Given the description of an element on the screen output the (x, y) to click on. 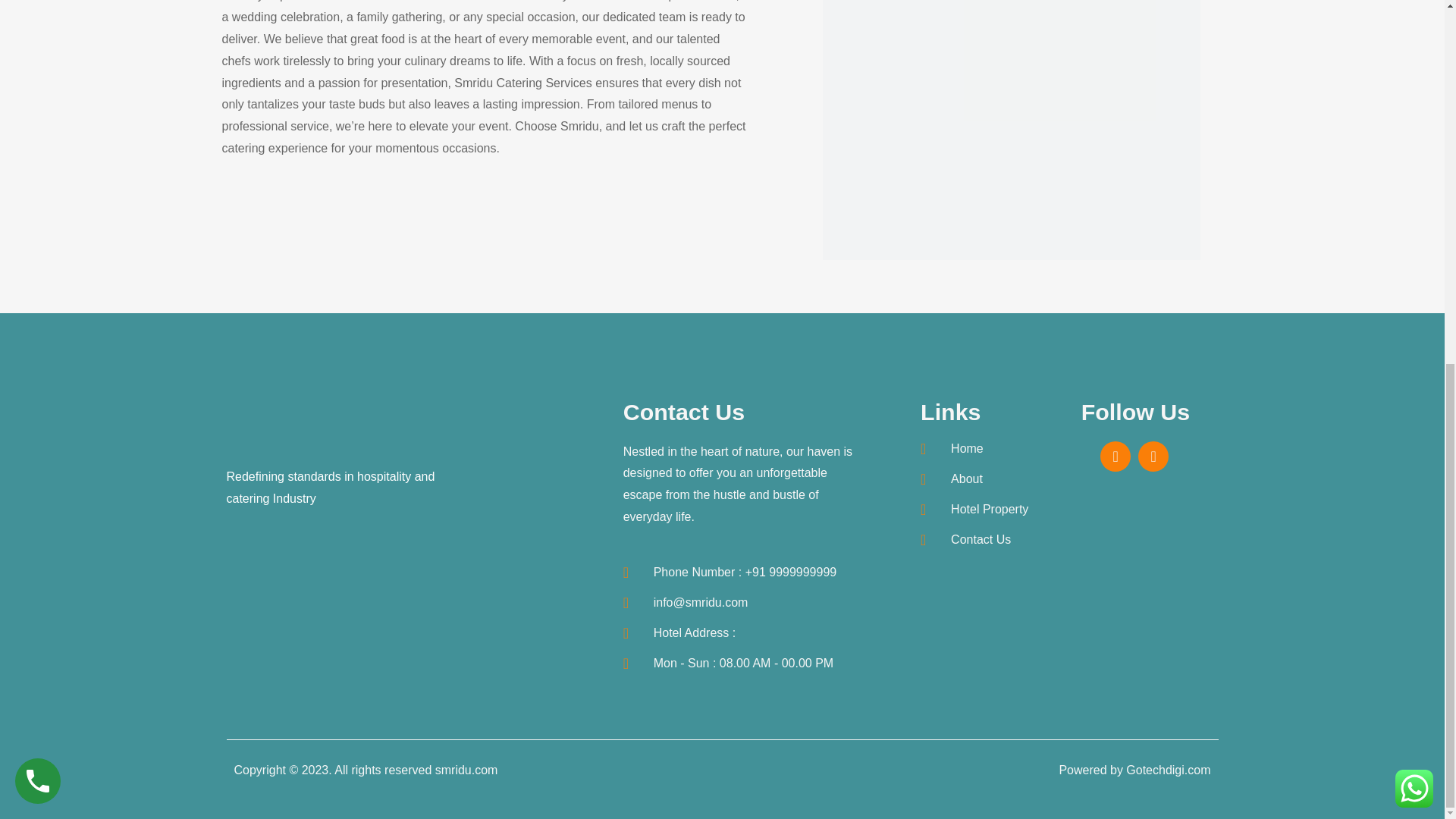
About (988, 478)
Home (988, 448)
Contact Us (988, 539)
Mon - Sun : 08.00 AM - 00.00 PM (741, 663)
Hotel Address : (741, 632)
Hotel Property (988, 509)
